Given the description of an element on the screen output the (x, y) to click on. 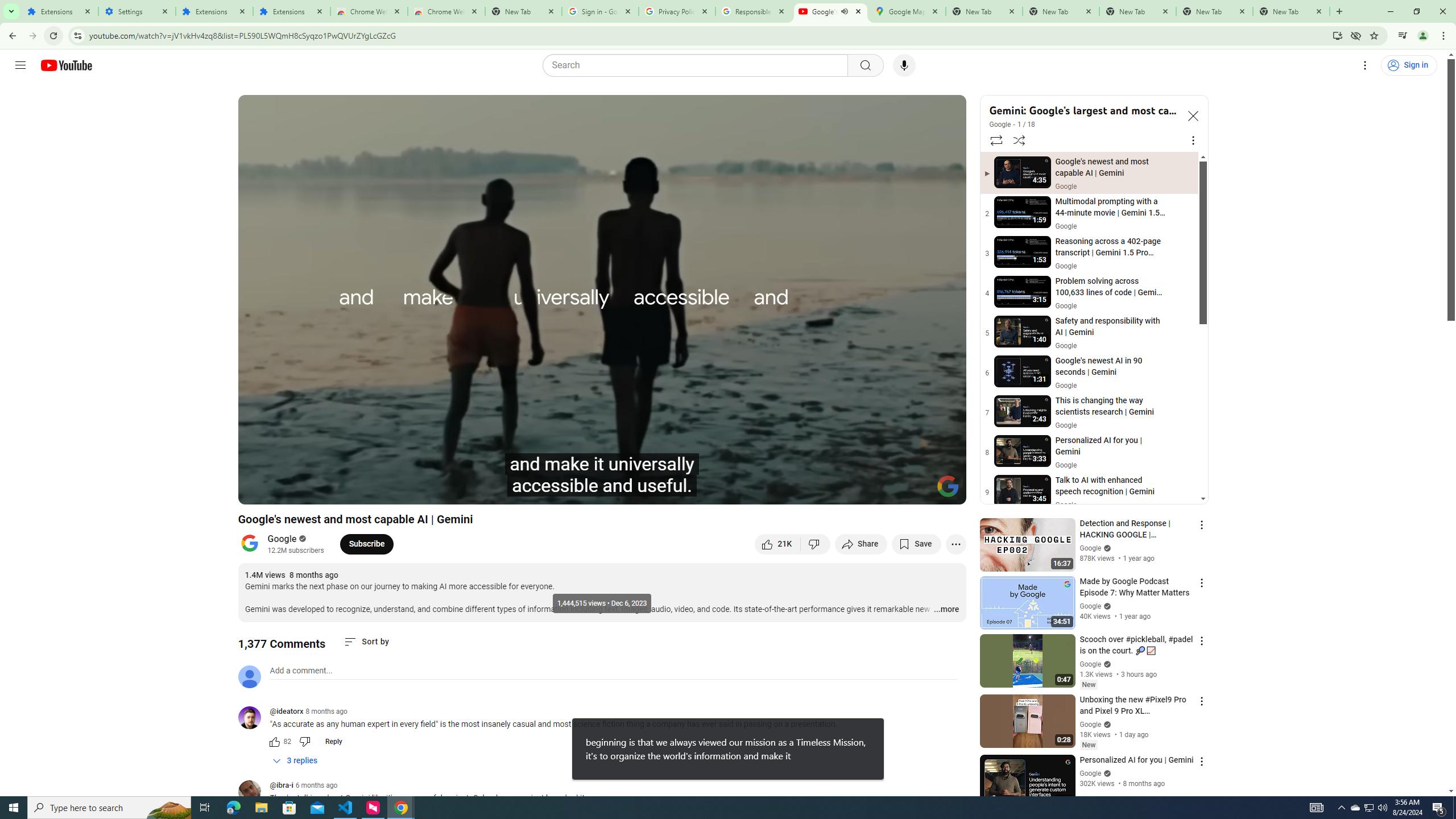
More actions (955, 543)
...more (946, 609)
Guide (20, 65)
Chrome Web Store - Themes (446, 11)
Chrome Web Store (368, 11)
@ibra-i (281, 785)
Google Maps (906, 11)
